Given the description of an element on the screen output the (x, y) to click on. 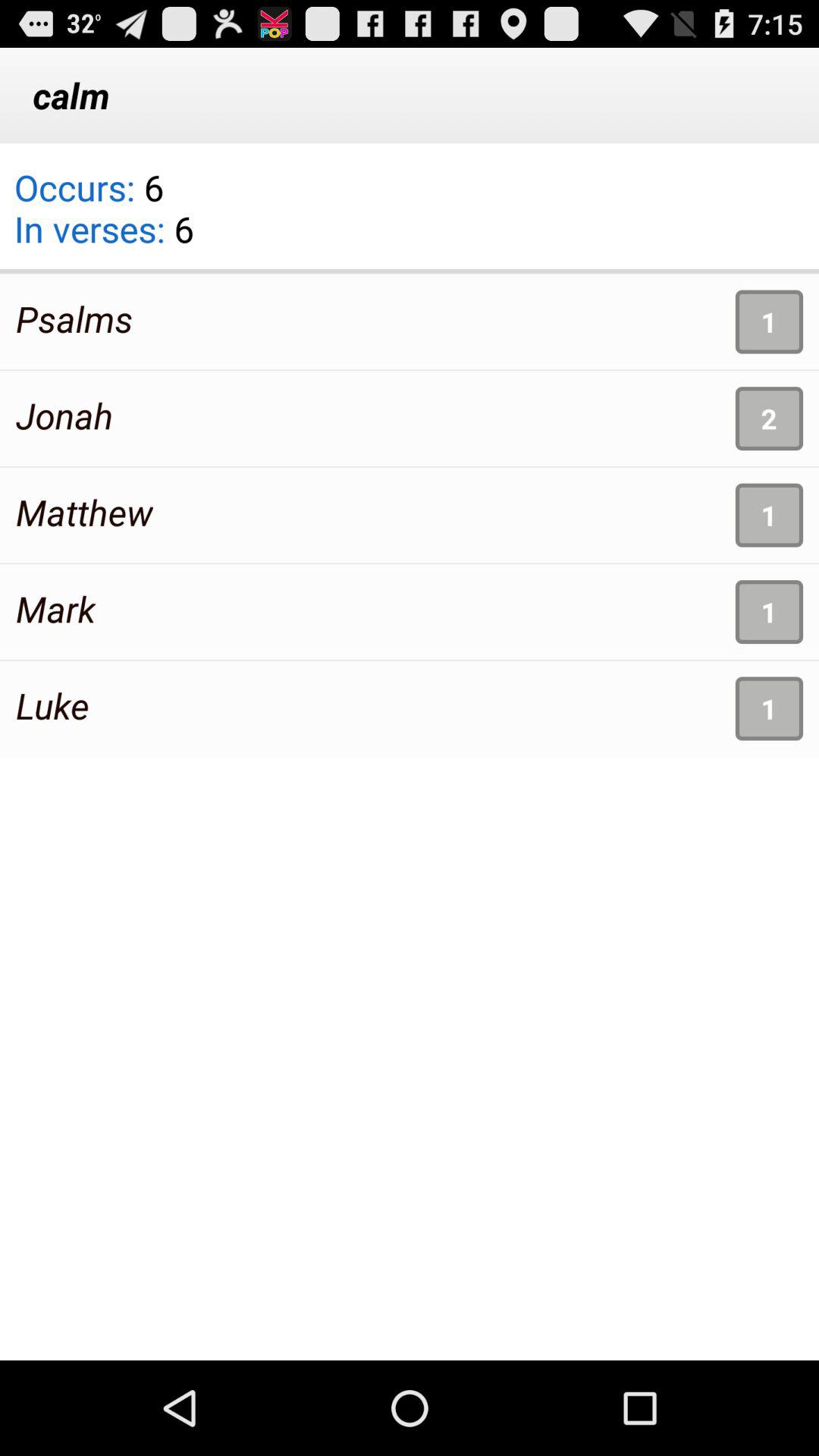
turn on the app above the psalms icon (103, 218)
